Given the description of an element on the screen output the (x, y) to click on. 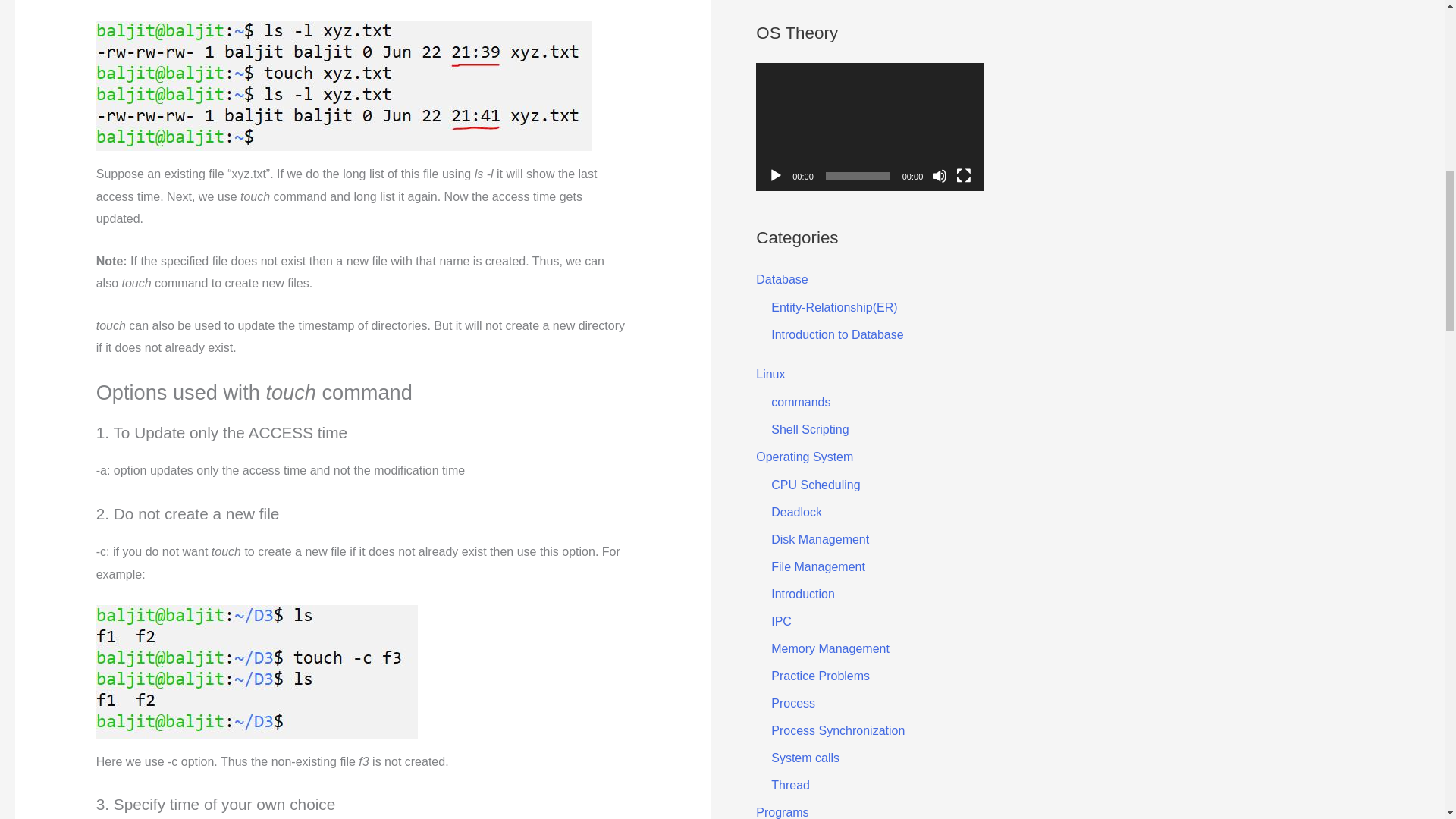
Play (775, 175)
Fullscreen (963, 175)
Mute (939, 175)
